Given the description of an element on the screen output the (x, y) to click on. 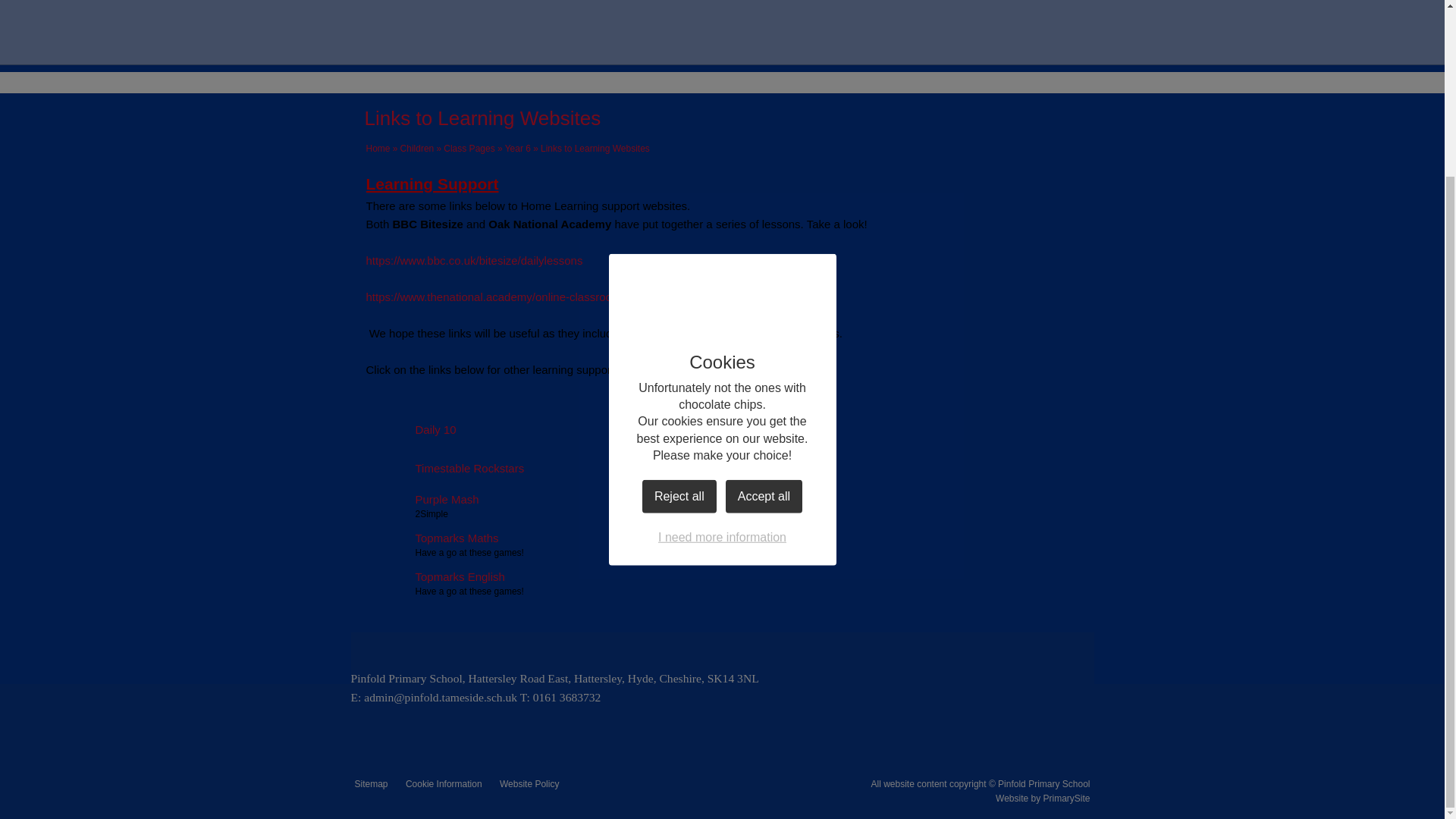
Class Pages (469, 148)
Daily 10 (410, 429)
Children (416, 148)
Links to Learning Websites (594, 148)
Year 6 (518, 148)
Home (377, 148)
Purple Mash (422, 499)
Key Information (658, 42)
Topmarks Maths (431, 538)
Timestable Rockstars (444, 468)
Home (408, 42)
About Us (535, 42)
Topmarks English (434, 576)
